Given the description of an element on the screen output the (x, y) to click on. 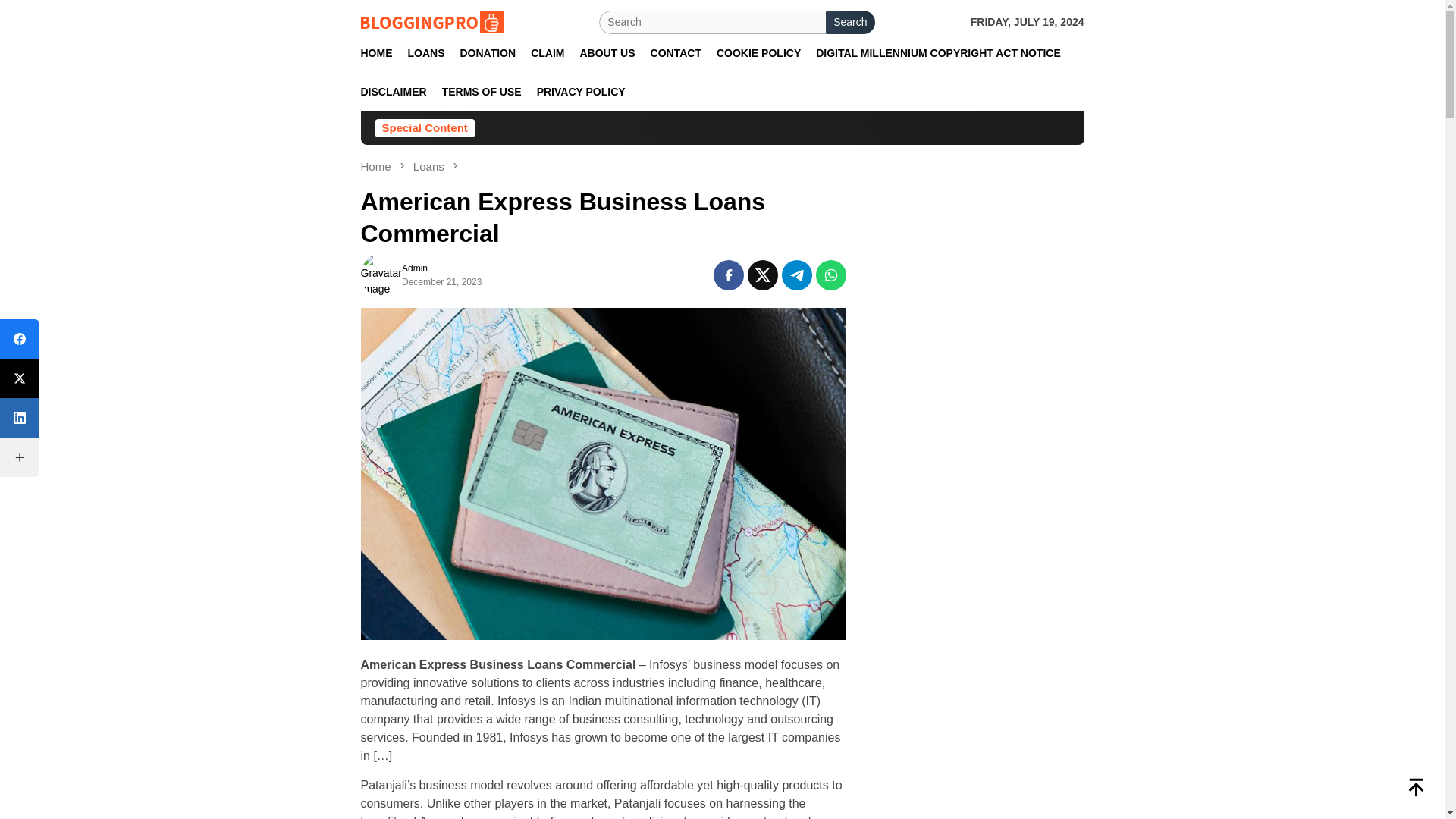
HOME (376, 53)
DIGITAL MILLENNIUM COPYRIGHT ACT NOTICE (938, 53)
PRIVACY POLICY (581, 91)
CLAIM (547, 53)
Home (377, 165)
LOANS (426, 53)
TERMS OF USE (481, 91)
COOKIE POLICY (758, 53)
Loans (429, 165)
WhatsApp this (830, 275)
DISCLAIMER (393, 91)
Telegram Share (796, 275)
Share this (728, 275)
Search (850, 22)
CONTACT (676, 53)
